Given the description of an element on the screen output the (x, y) to click on. 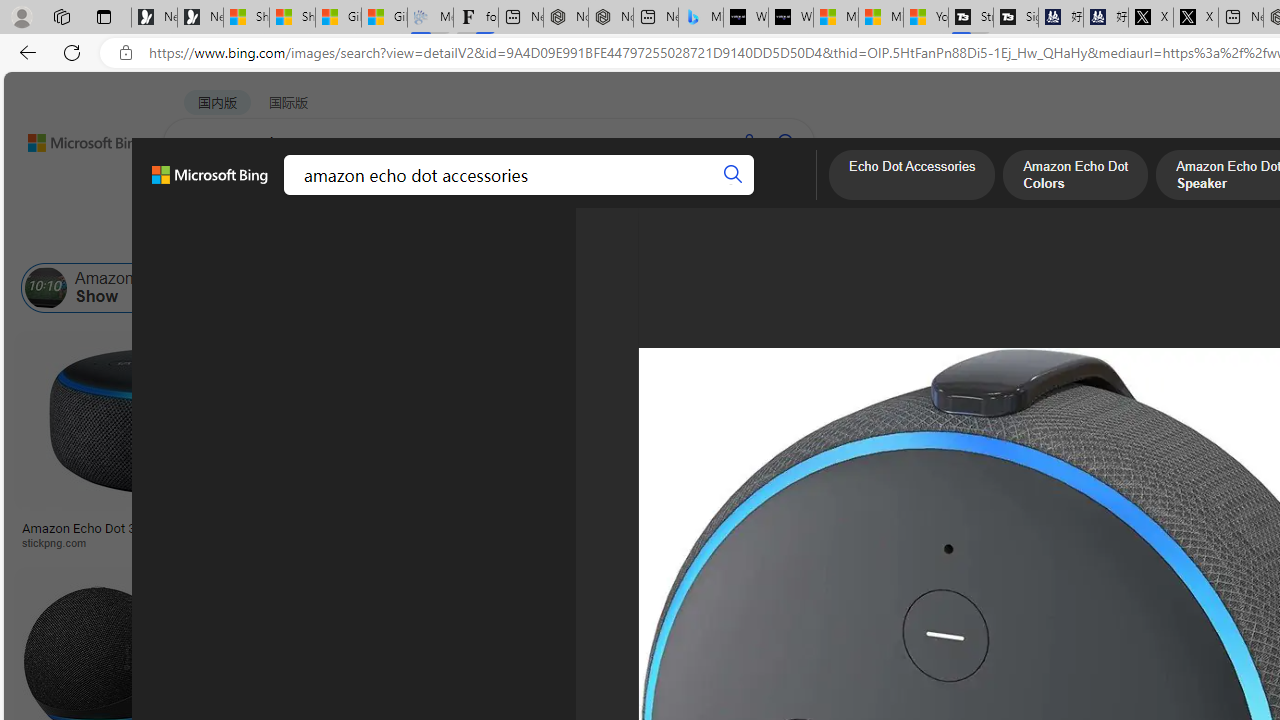
IMAGES (274, 195)
Image result for Amazon Echo Dot PNG (1191, 421)
VIDEOS (458, 195)
Search using voice (748, 142)
